Given the description of an element on the screen output the (x, y) to click on. 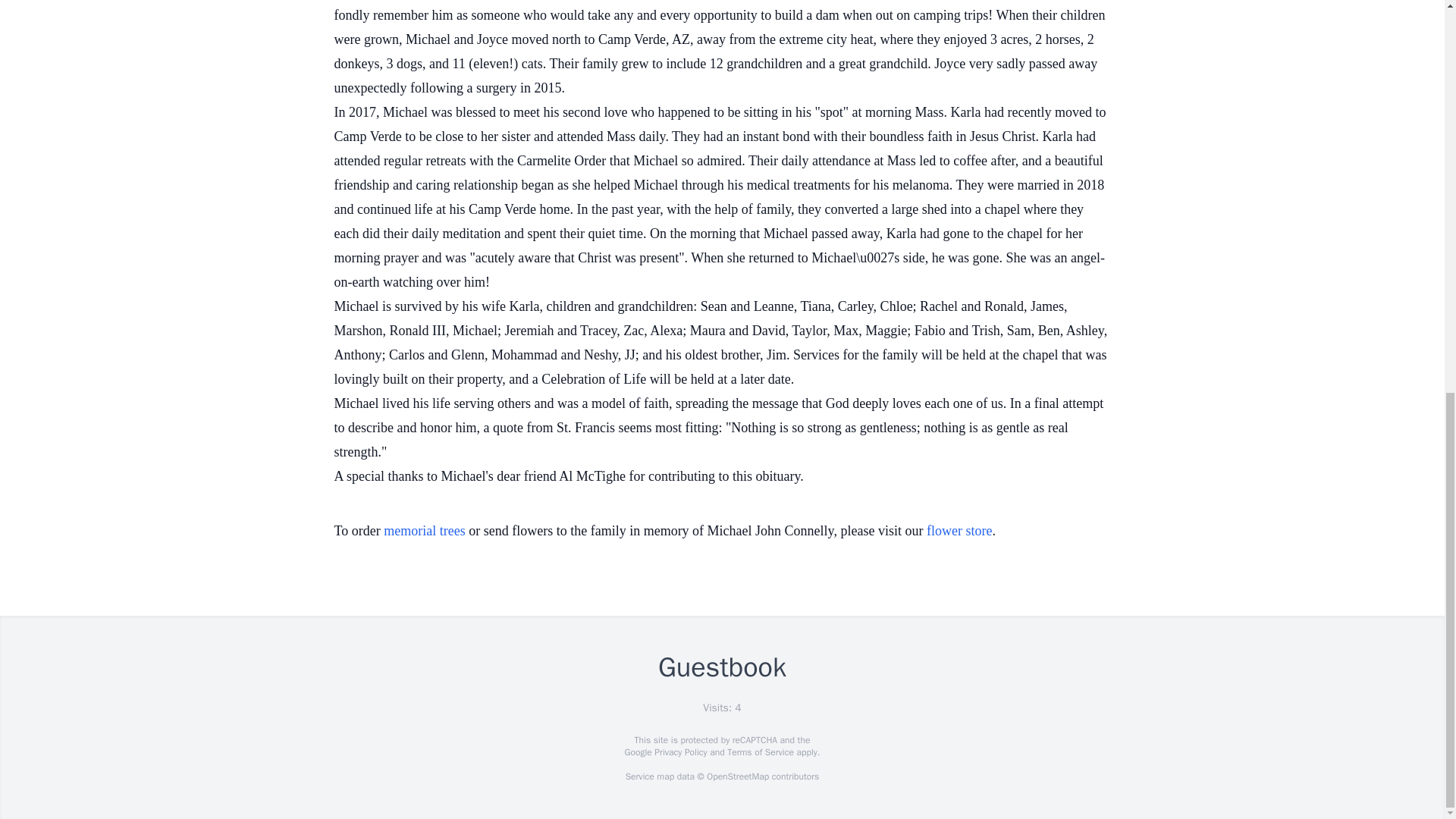
flower store (958, 530)
memorial trees (424, 530)
Terms of Service (759, 752)
OpenStreetMap (737, 776)
Privacy Policy (679, 752)
